Given the description of an element on the screen output the (x, y) to click on. 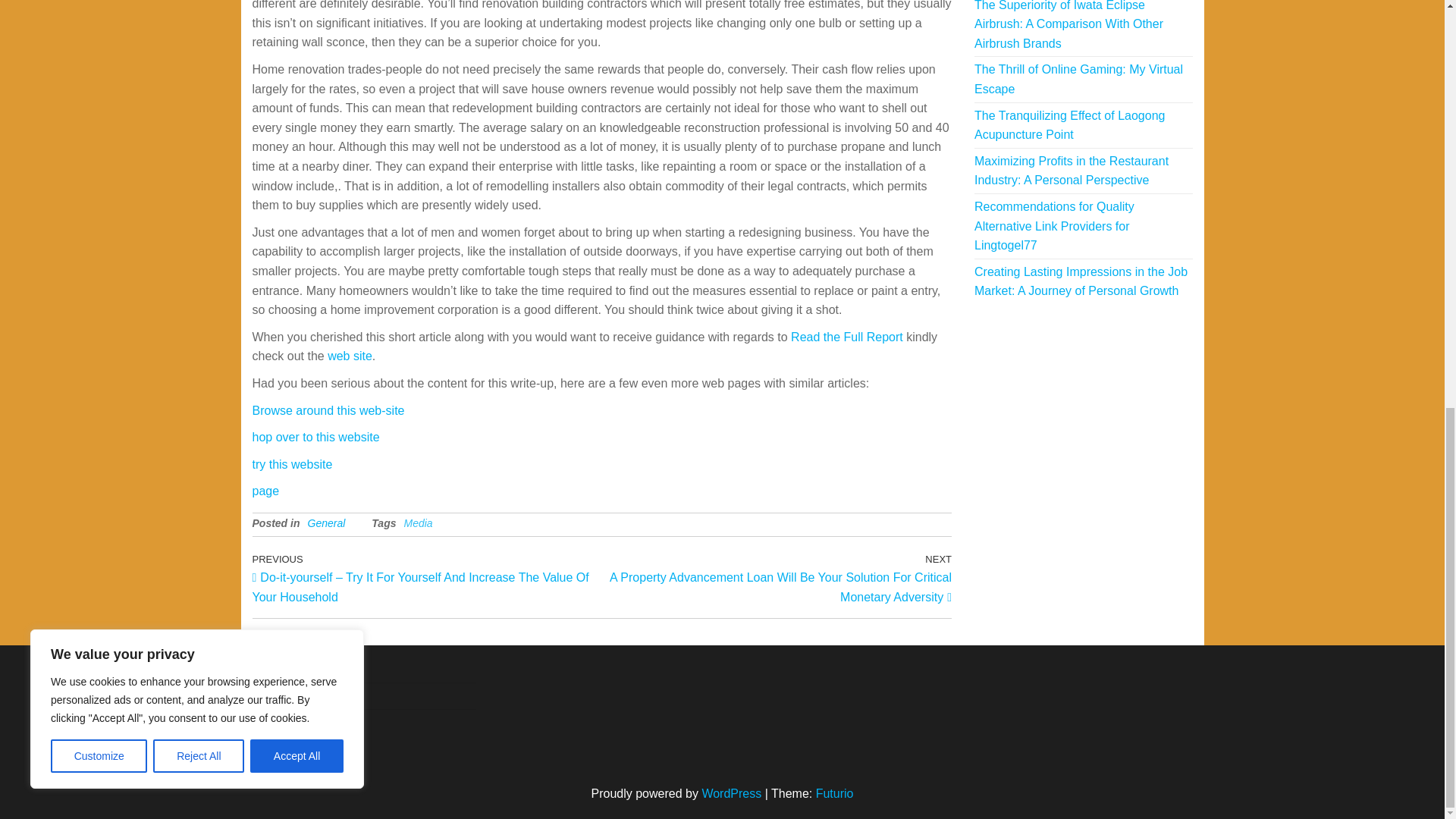
Media (417, 522)
hop over to this website (314, 436)
web site (349, 355)
Browse around this web-site (327, 409)
General (326, 522)
Read the Full Report (846, 336)
page (265, 490)
try this website (291, 463)
